Given the description of an element on the screen output the (x, y) to click on. 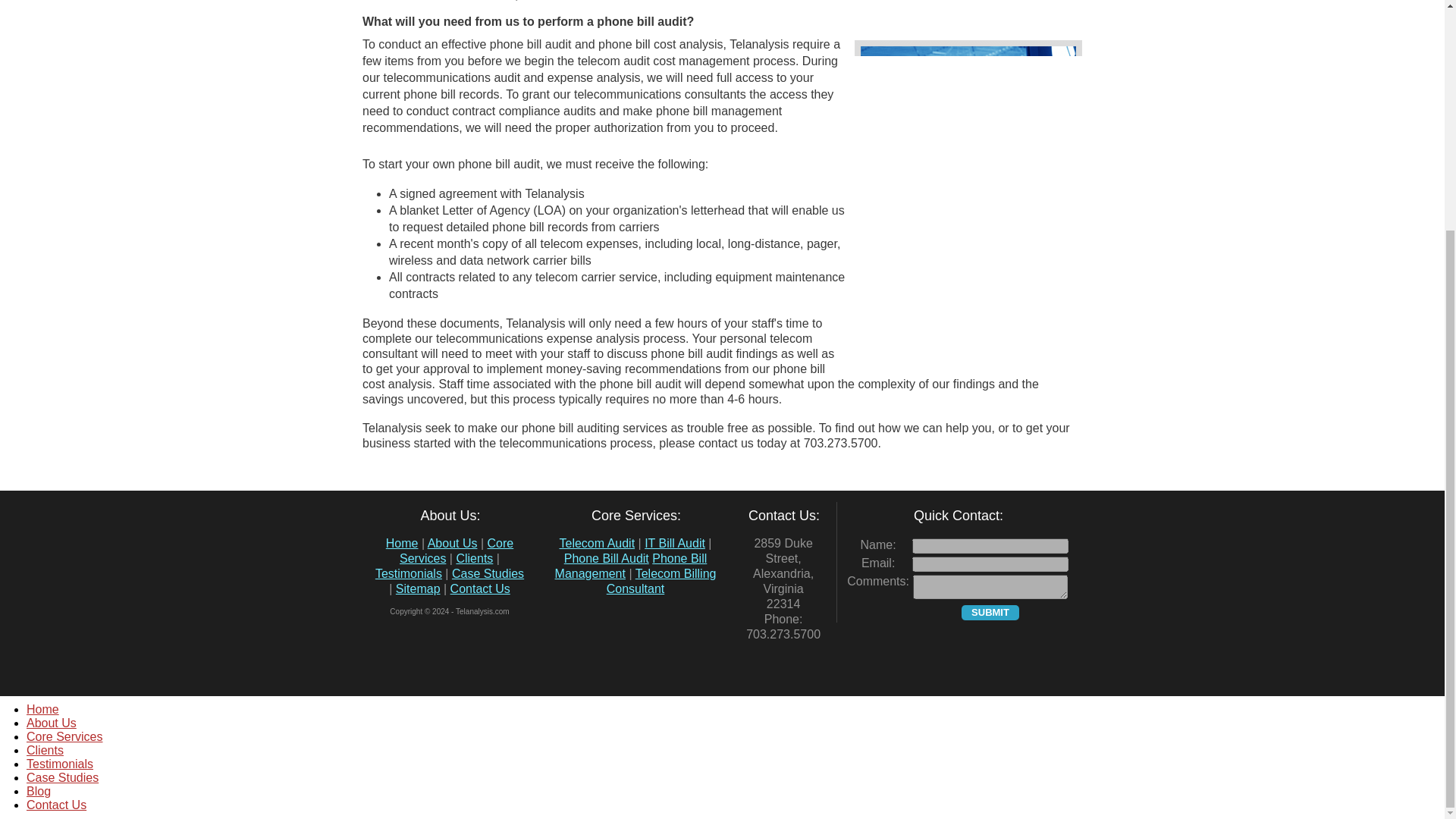
Testimonials (408, 573)
Core Services (455, 551)
About Us (452, 543)
Phone Bill Audit (606, 558)
Sitemap (418, 588)
Clients (474, 558)
Telecom Audit (596, 543)
Case Studies (487, 573)
Phone Bill Management (630, 565)
Telecom Billing Consultant (661, 581)
IT Bill Audit (674, 543)
Submit (989, 612)
Home (402, 543)
Contact Us (480, 588)
